Given the description of an element on the screen output the (x, y) to click on. 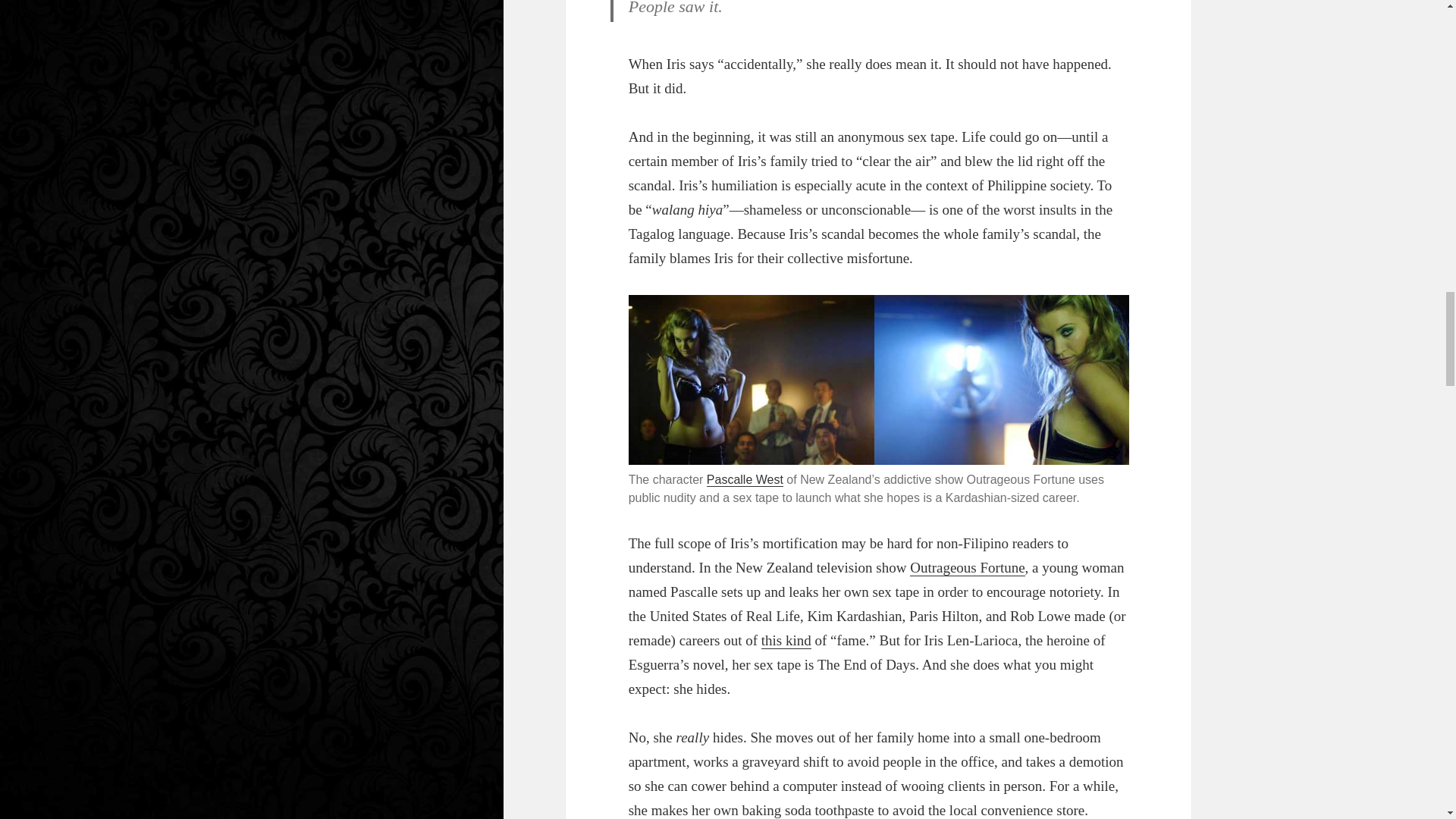
this kind (785, 640)
Outrageous Fortune (967, 567)
Pascalle West (744, 479)
